Given the description of an element on the screen output the (x, y) to click on. 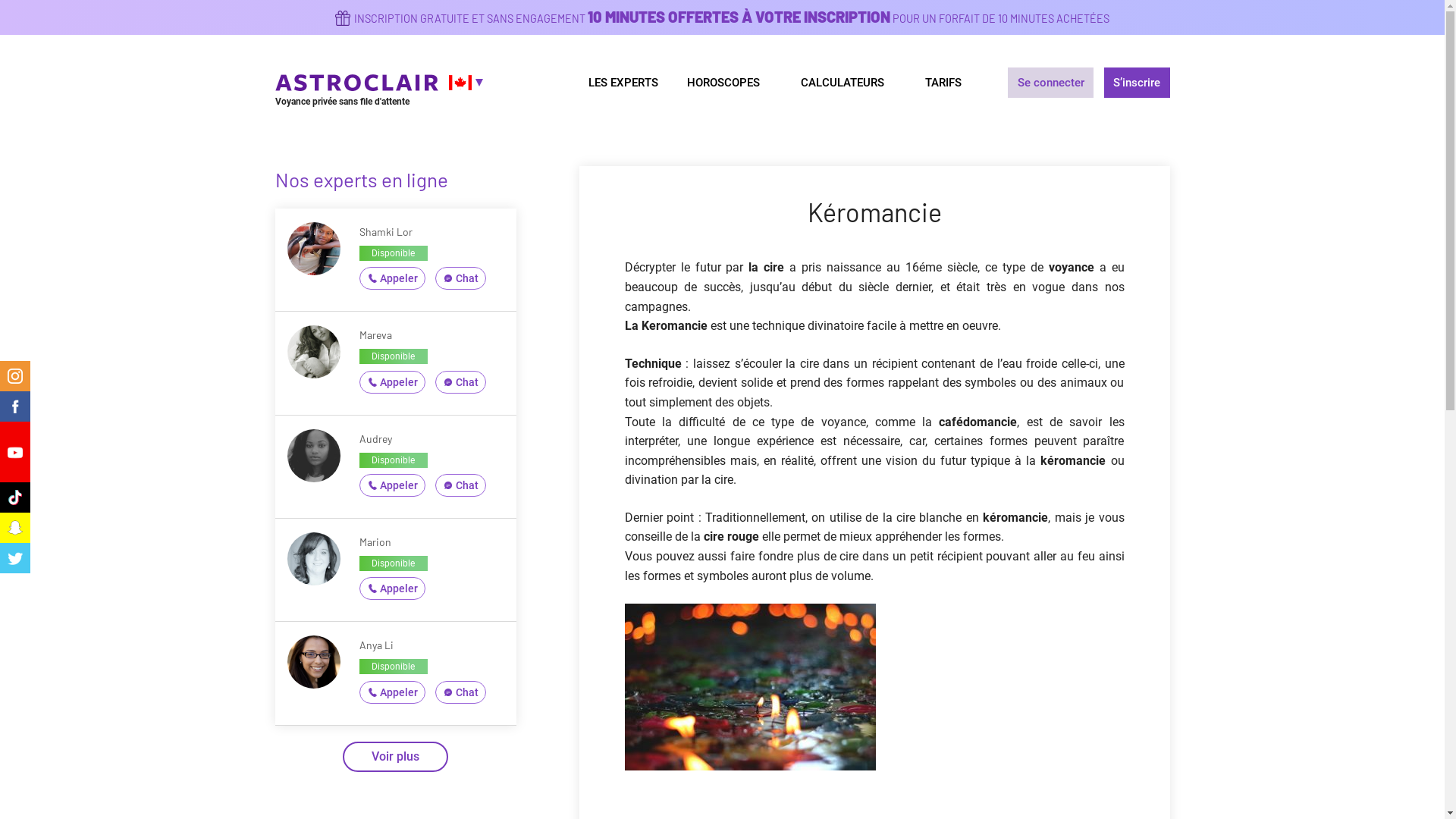
Chat Element type: text (460, 381)
Marion Element type: text (375, 541)
Appeler Element type: text (392, 381)
Chat Element type: text (460, 277)
Appeler Element type: text (392, 484)
Appeler Element type: text (392, 588)
Anya Li Element type: text (376, 644)
Appeler Element type: text (392, 691)
TARIFS Element type: text (943, 81)
HOROSCOPES Element type: text (729, 81)
Mareva Element type: text (375, 334)
Appeler Element type: text (392, 277)
Shamki Lor Element type: text (385, 231)
Audrey Element type: text (375, 438)
Chat Element type: text (460, 484)
Se connecter Element type: text (1050, 82)
CALCULATEURS Element type: text (848, 81)
Voir plus Element type: text (395, 756)
Chat Element type: text (460, 691)
LES EXPERTS Element type: text (622, 81)
